Given the description of an element on the screen output the (x, y) to click on. 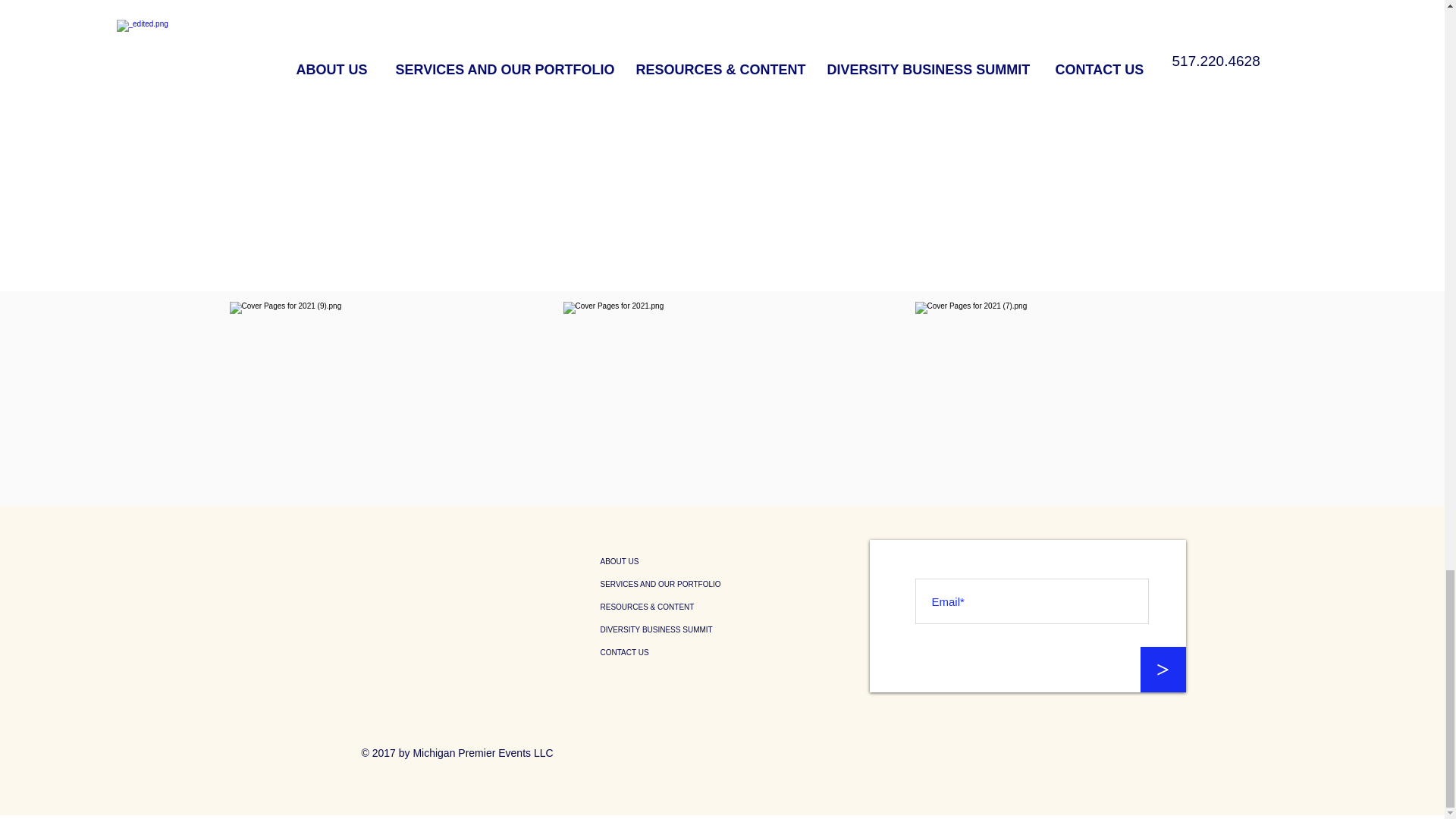
Post not marked as liked (835, 46)
SERVICES AND OUR PORTFOLIO (718, 584)
ABOUT US (718, 561)
